Given the description of an element on the screen output the (x, y) to click on. 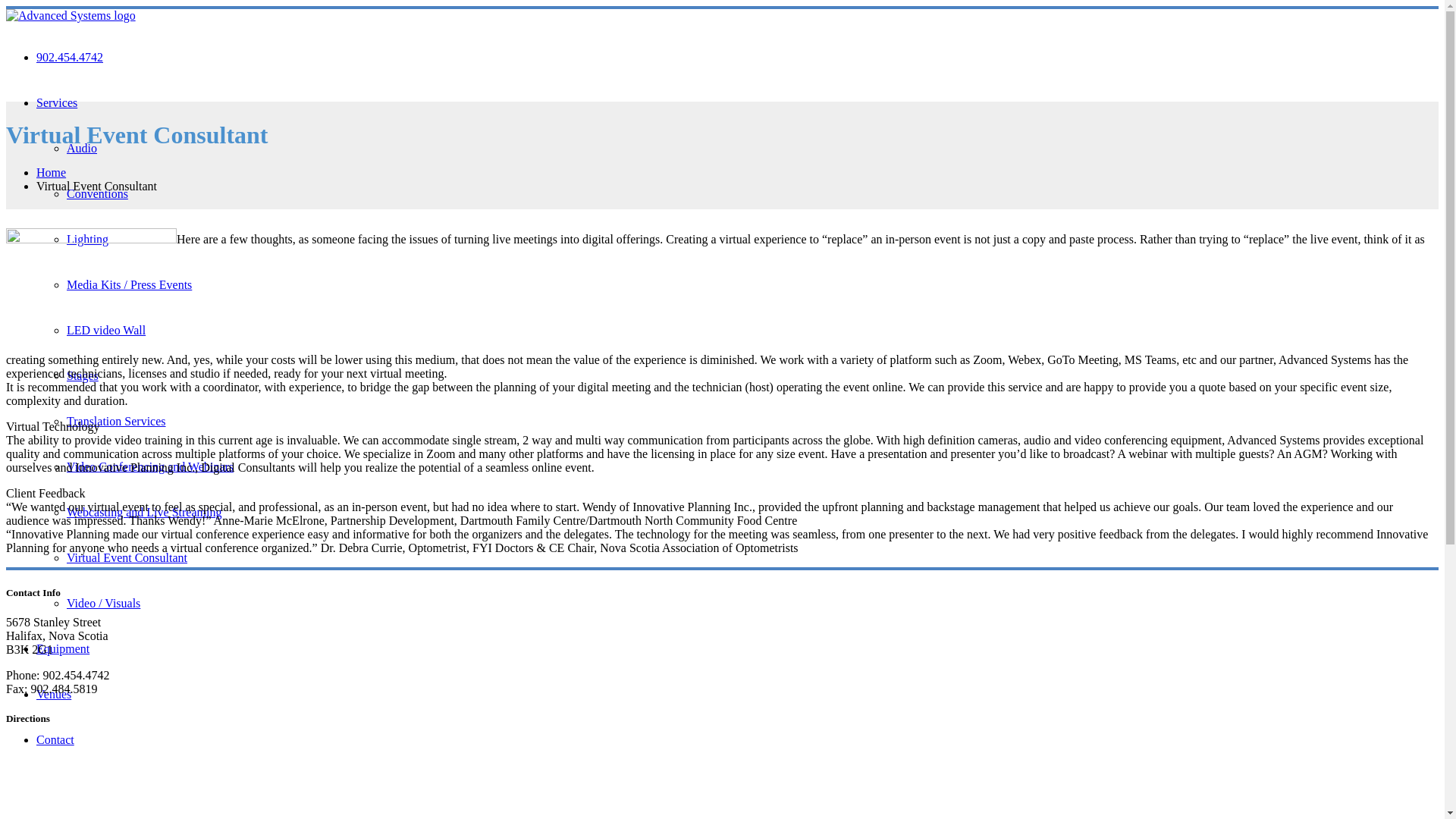
Translation Services Element type: text (116, 420)
Skip to content Element type: text (5, 5)
Media Kits / Press Events Element type: text (128, 284)
Contact Element type: text (55, 739)
Audio Element type: text (81, 147)
Lighting Element type: text (87, 238)
Venues Element type: text (53, 693)
Services Element type: text (56, 102)
Video / Visuals Element type: text (103, 602)
Webcasting and Live Streaming Element type: text (143, 511)
902.454.4742 Element type: text (69, 56)
Virtual Event Consultant Element type: text (126, 557)
LED video Wall Element type: text (105, 329)
Equipment Element type: text (62, 648)
Video Conferencing and Webinars Element type: text (149, 466)
Conventions Element type: text (97, 193)
Home Element type: text (50, 172)
Stages Element type: text (82, 375)
